Given the description of an element on the screen output the (x, y) to click on. 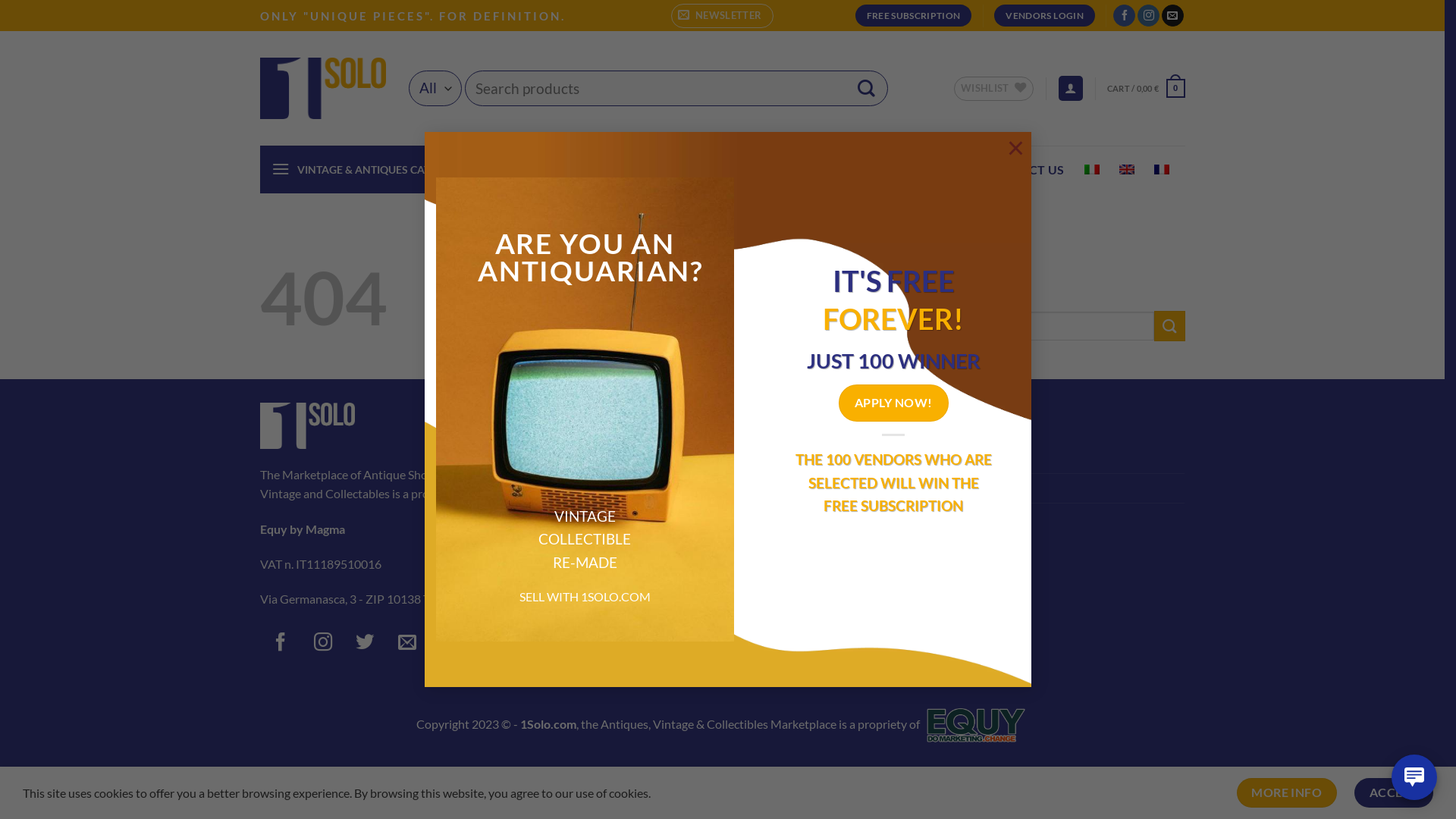
PHILOSOPHY Element type: text (846, 169)
1Solo | Vintage Antiquariato Handmade Element type: hover (322, 87)
VENDORS LOGIN Element type: text (1044, 15)
Follow on Facebook Element type: hover (280, 643)
SHOP Element type: text (618, 169)
ACCEPT Element type: text (1393, 792)
FAQs Element type: text (590, 575)
APPLY NOW! Element type: text (893, 402)
Terms & Conditions Element type: text (626, 459)
CONTACT US Element type: text (1024, 169)
FREE SUBSCRIPTION Element type: text (913, 15)
Vendors Registration Element type: text (946, 487)
Subscriptions Element type: text (927, 517)
Cookies Policy Element type: text (613, 517)
Follow on Instagram Element type: hover (1148, 15)
Follow on Instagram Element type: hover (323, 643)
Vendor Dashboard Element type: text (941, 459)
Follow on Twitter Element type: hover (364, 643)
HOME Element type: text (561, 169)
Send us an email Element type: hover (1172, 15)
About us Element type: text (599, 546)
Send us an email Element type: hover (407, 643)
MORE INFO Element type: text (1286, 792)
MAGAZINE Element type: text (754, 169)
Search Element type: text (866, 88)
Privacy Policy Element type: text (611, 487)
SELLING Element type: text (936, 169)
STORES Element type: text (678, 169)
WISHLIST Element type: text (993, 87)
Follow on Facebook Element type: hover (1124, 15)
NEWSLETTER Element type: text (722, 15)
